Given the description of an element on the screen output the (x, y) to click on. 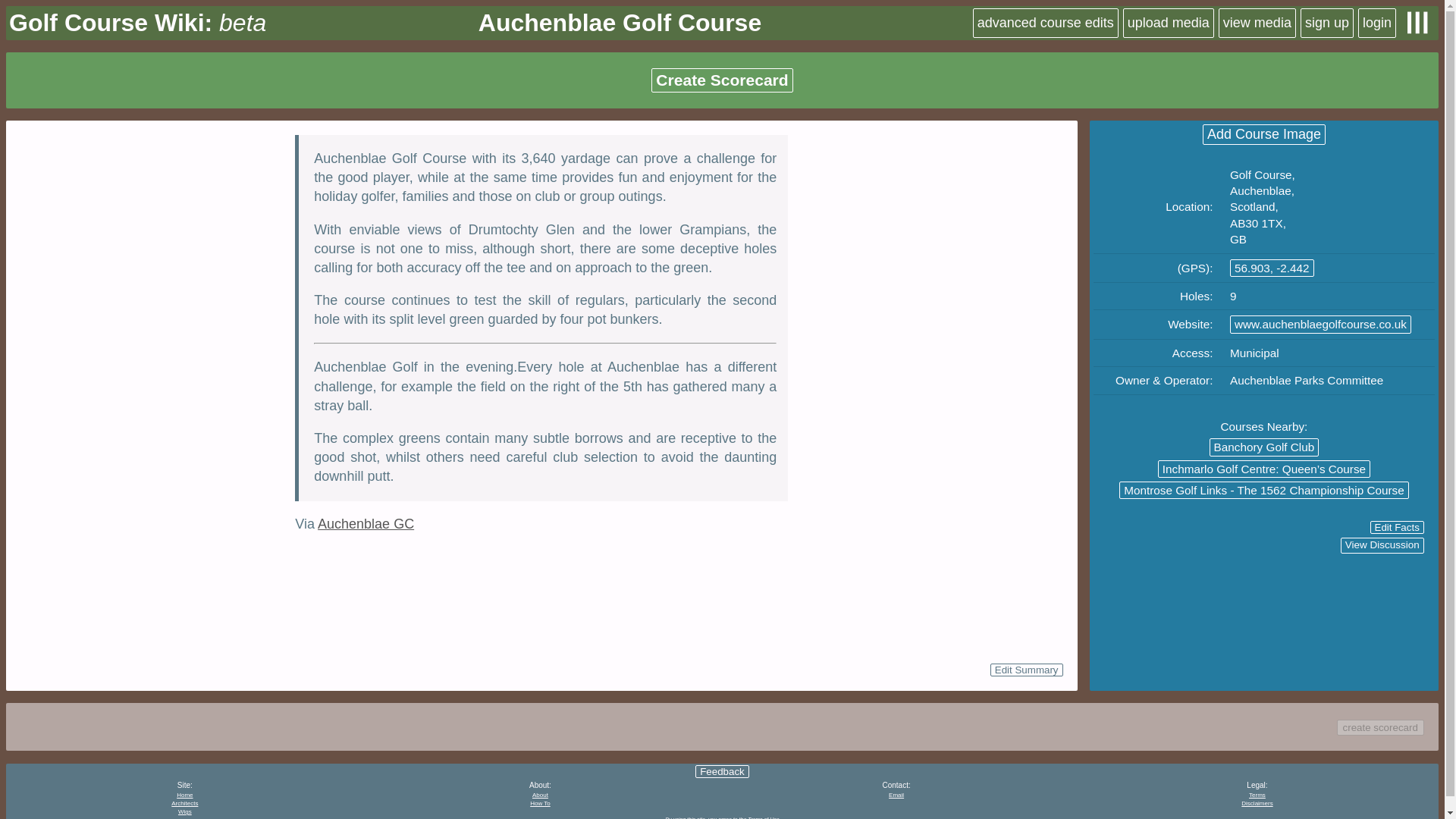
Home (184, 795)
View Discussion (1381, 545)
Banchory Golf Club (1264, 446)
view media (1256, 22)
How To (539, 803)
upload media (1168, 22)
Edit Facts (1396, 526)
create scorecard (1379, 726)
About (540, 795)
Montrose Golf Links - The 1562 Championship Course (1264, 489)
login (1377, 22)
Golf Course Wiki: beta (137, 22)
Add Course Image (1263, 134)
create scorecard (1379, 727)
Edit Summary (1026, 669)
